Given the description of an element on the screen output the (x, y) to click on. 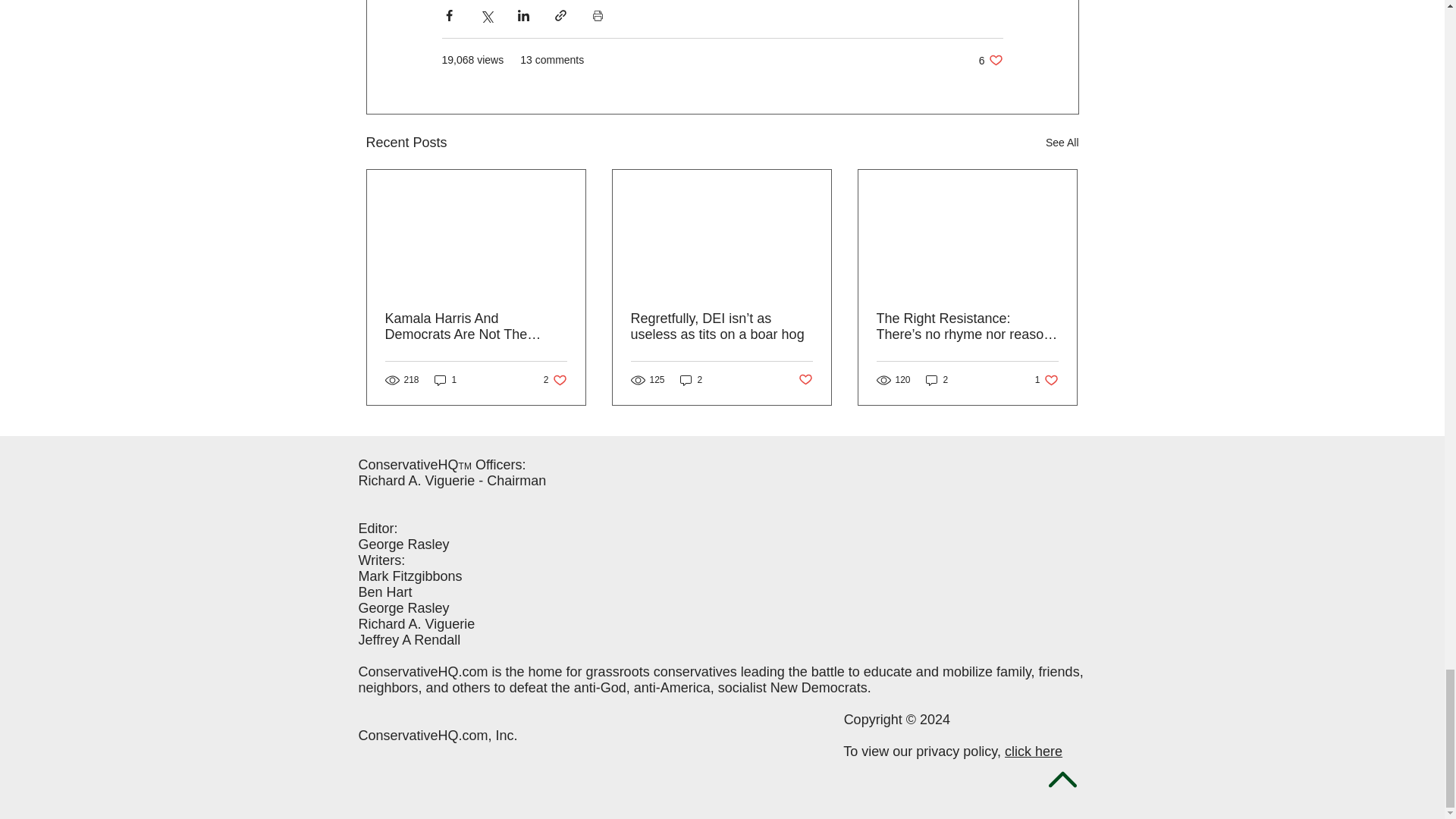
Post not marked as liked (804, 379)
See All (1061, 142)
1 (555, 380)
2 (445, 380)
